Given the description of an element on the screen output the (x, y) to click on. 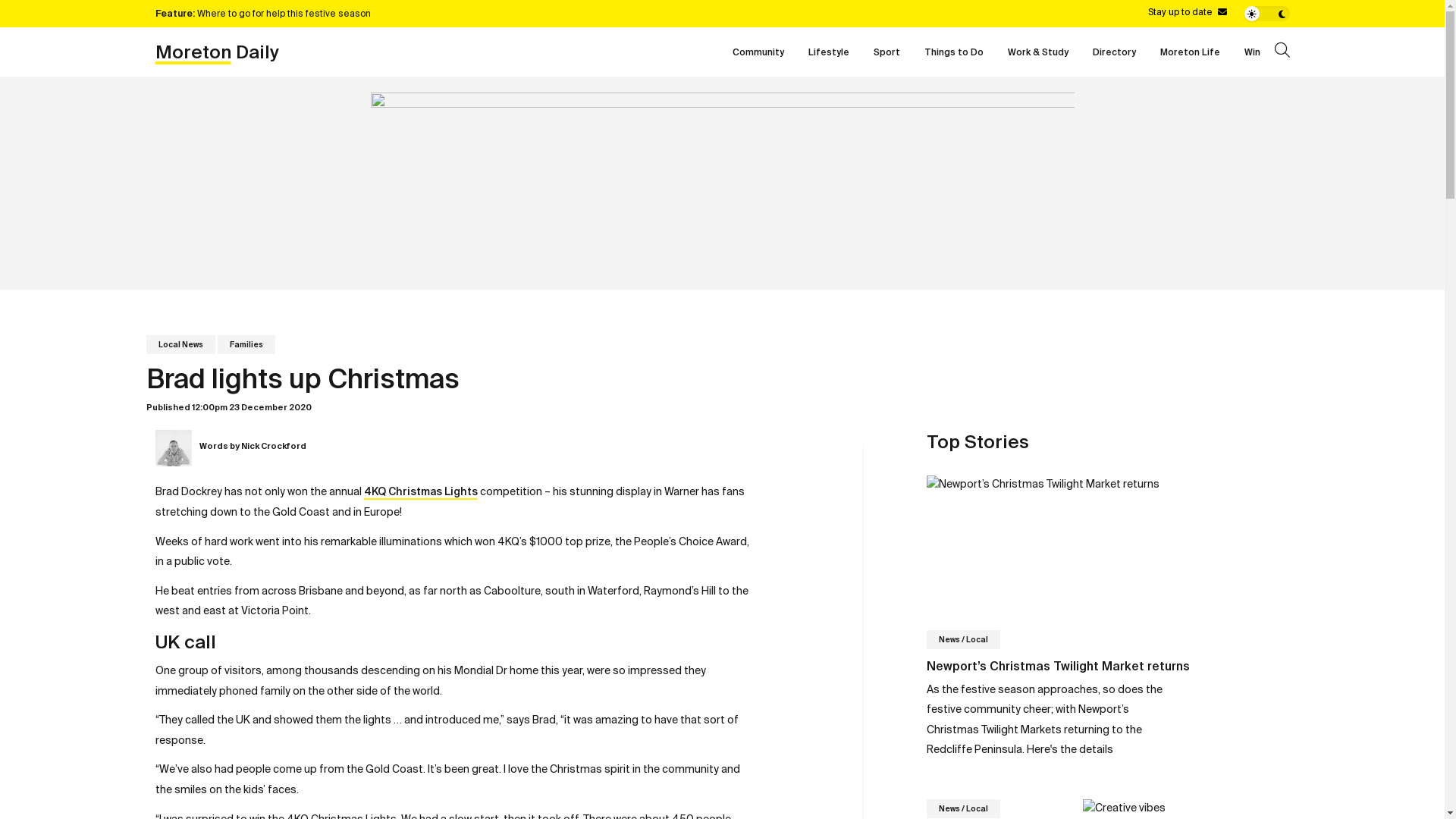
Stay up to date Element type: text (1187, 12)
Directory Element type: text (1113, 52)
Local Element type: text (977, 808)
Work & Study Element type: text (1037, 52)
Local Element type: text (977, 639)
Feature:
Where to go for help this festive season Element type: text (437, 12)
4KQ Christmas Lights Element type: text (420, 491)
Win Element type: text (1251, 52)
Sport Element type: text (886, 52)
Families Element type: text (245, 344)
Moreton Life Element type: text (1190, 52)
Lifestyle Element type: text (828, 52)
Words by Nick Crockford Element type: text (485, 447)
Community Element type: text (758, 52)
Moreton Daily Element type: text (216, 51)
Things to Do Element type: text (952, 52)
Local News Element type: text (179, 344)
